Given the description of an element on the screen output the (x, y) to click on. 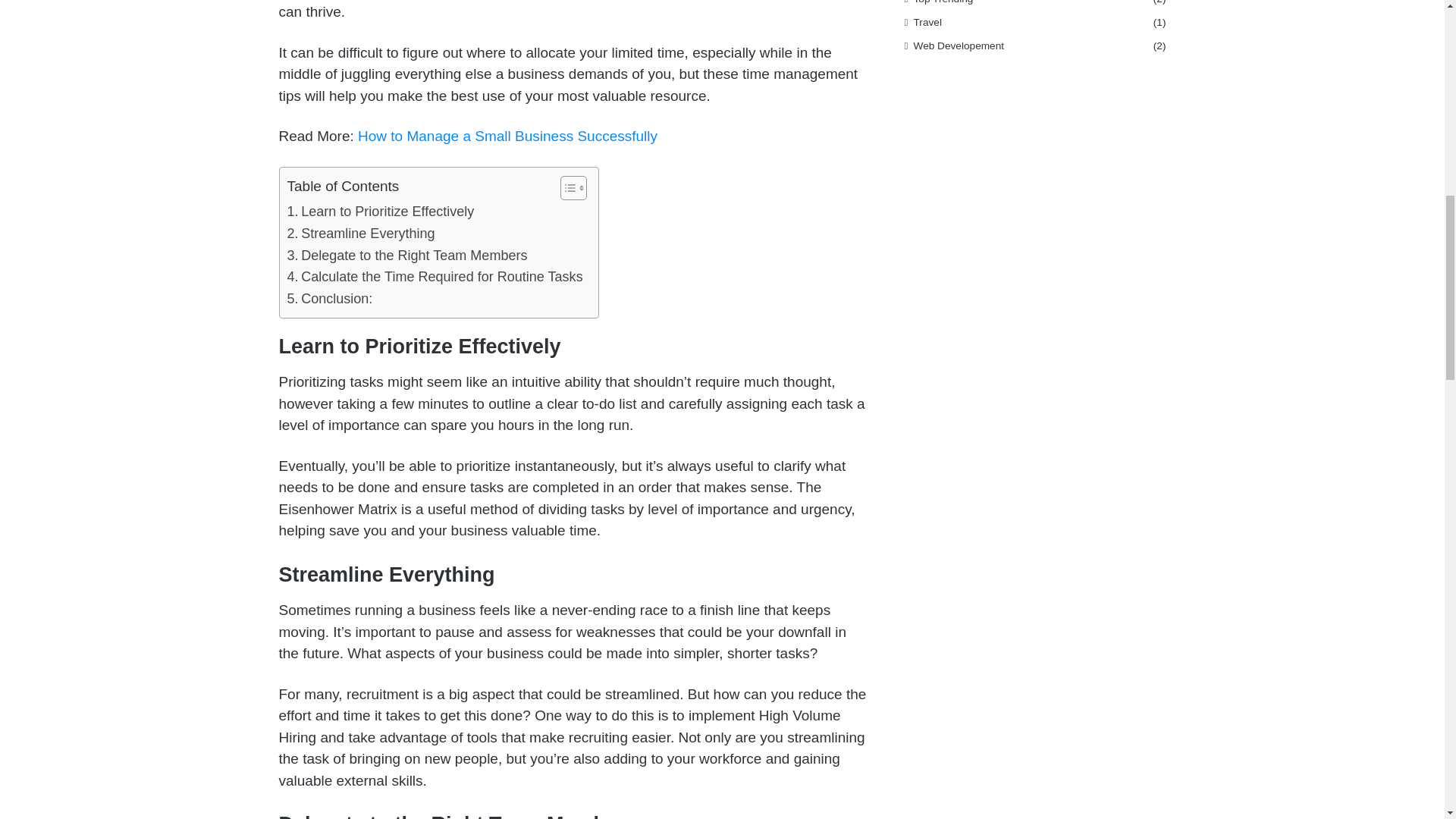
How to Manage a Small Business Successfully (508, 135)
Calculate the Time Required for Routine Tasks (434, 277)
Delegate to the Right Team Members (406, 255)
Conclusion: (329, 299)
Learn to Prioritize Effectively (380, 211)
Streamline Everything (359, 233)
